Given the description of an element on the screen output the (x, y) to click on. 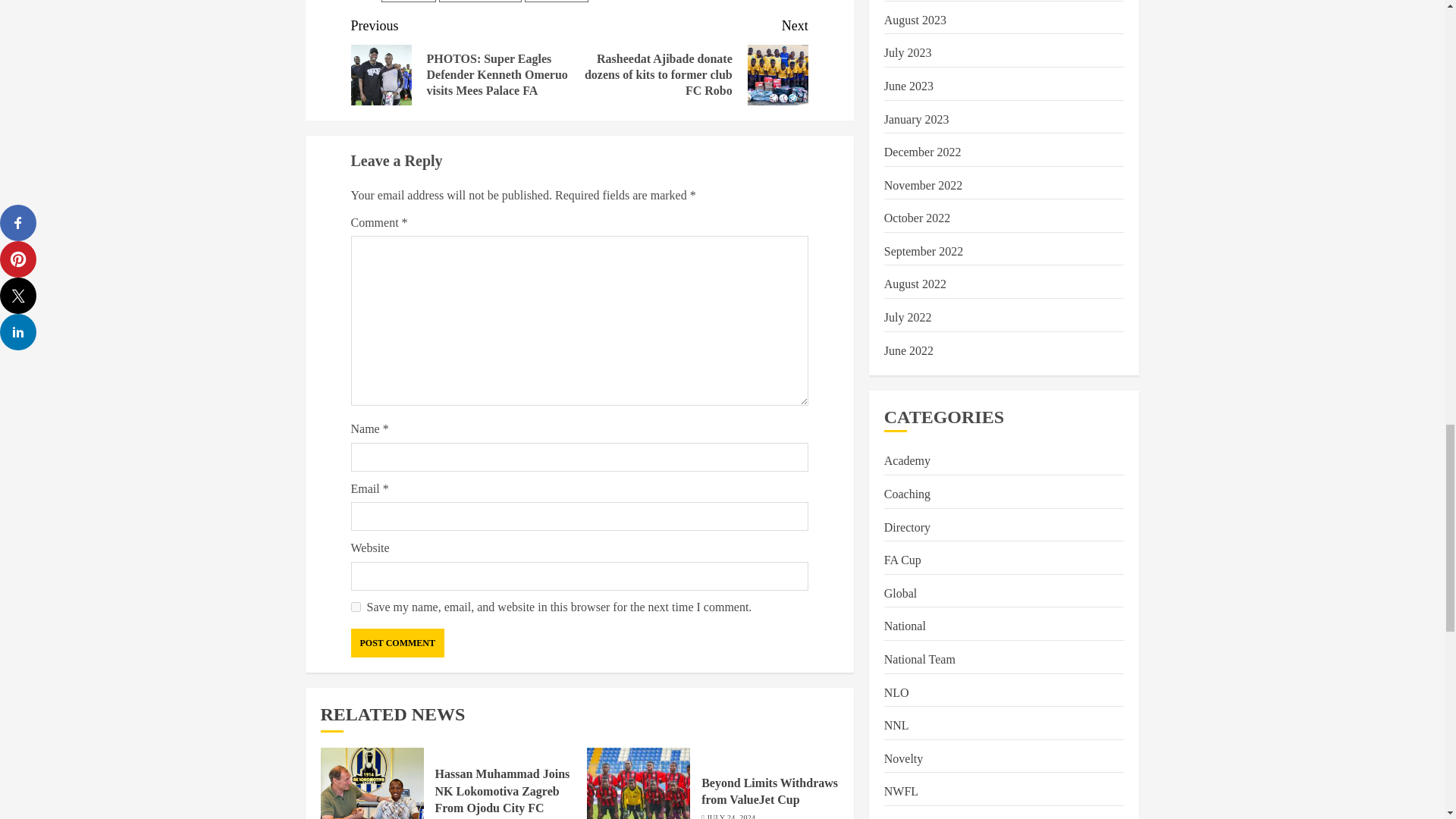
Post Comment (397, 642)
Slavia Prague (556, 1)
yes (354, 606)
36 Lion FC (408, 1)
Muhammed Tijani (480, 1)
